Given the description of an element on the screen output the (x, y) to click on. 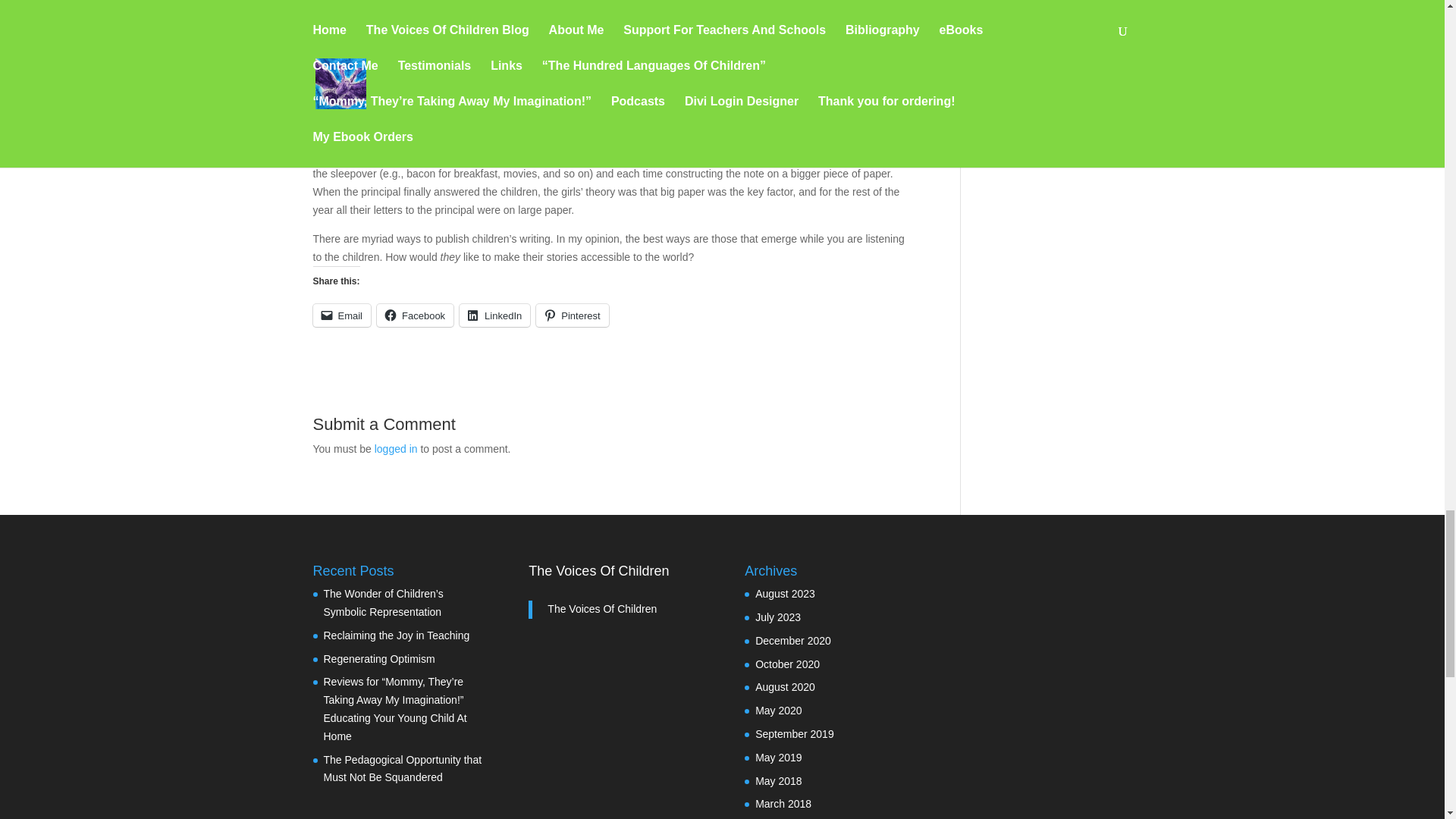
Pinterest (571, 314)
Click to share on LinkedIn (494, 314)
Facebook (414, 314)
Click to share on Pinterest (571, 314)
Click to email a link to a friend (342, 314)
Click to share on Facebook (414, 314)
Email (342, 314)
logged in (395, 449)
LinkedIn (494, 314)
